Given the description of an element on the screen output the (x, y) to click on. 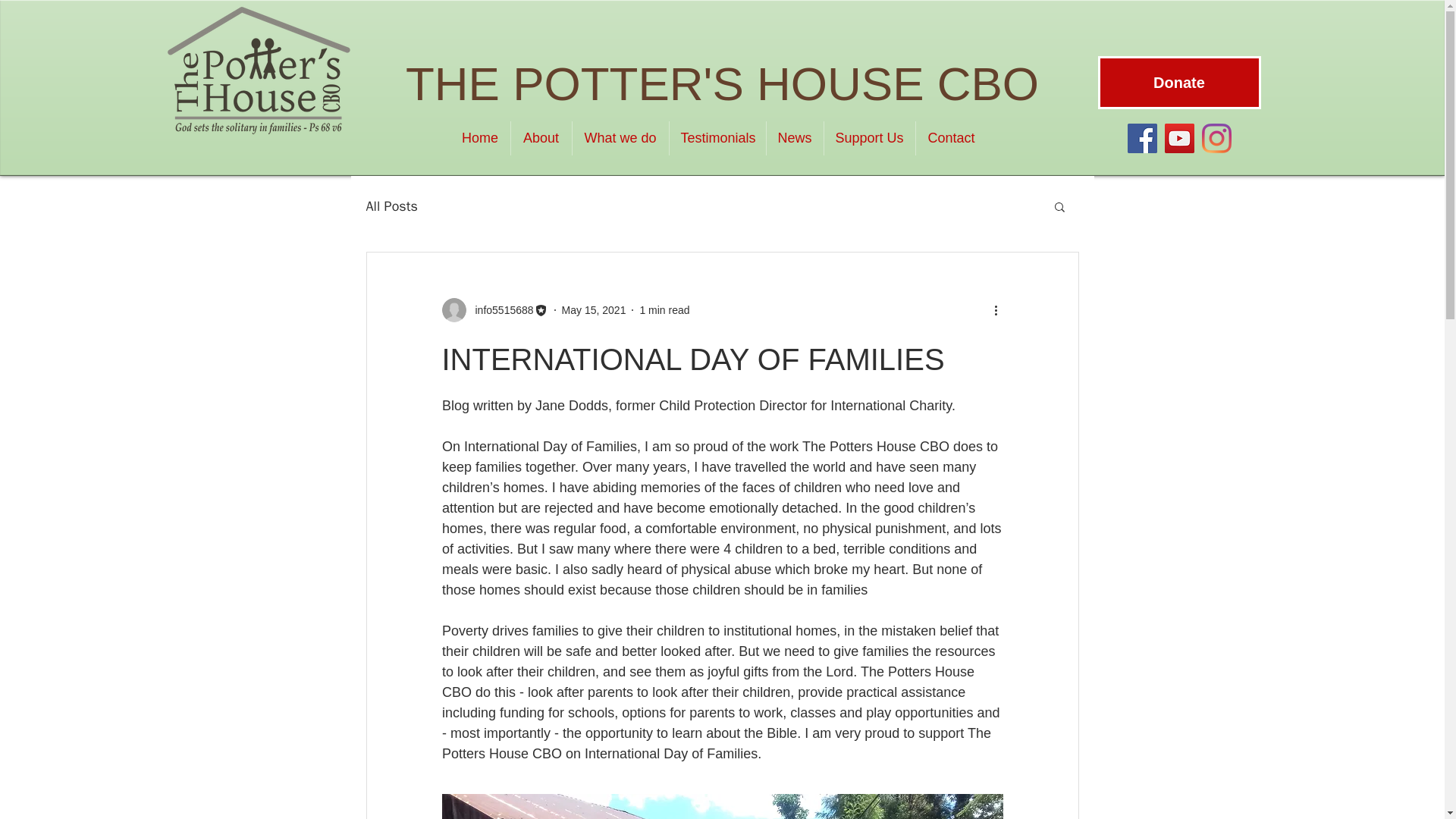
What we do (620, 138)
All Posts (390, 206)
Contact (951, 138)
May 15, 2021 (594, 309)
info5515688 (498, 309)
News (793, 138)
Home (480, 138)
info5515688 (494, 310)
Potters House Logo.tif (256, 70)
Testimonials (716, 138)
Support Us (869, 138)
1 min read (663, 309)
About (541, 138)
Donate (1178, 82)
